Given the description of an element on the screen output the (x, y) to click on. 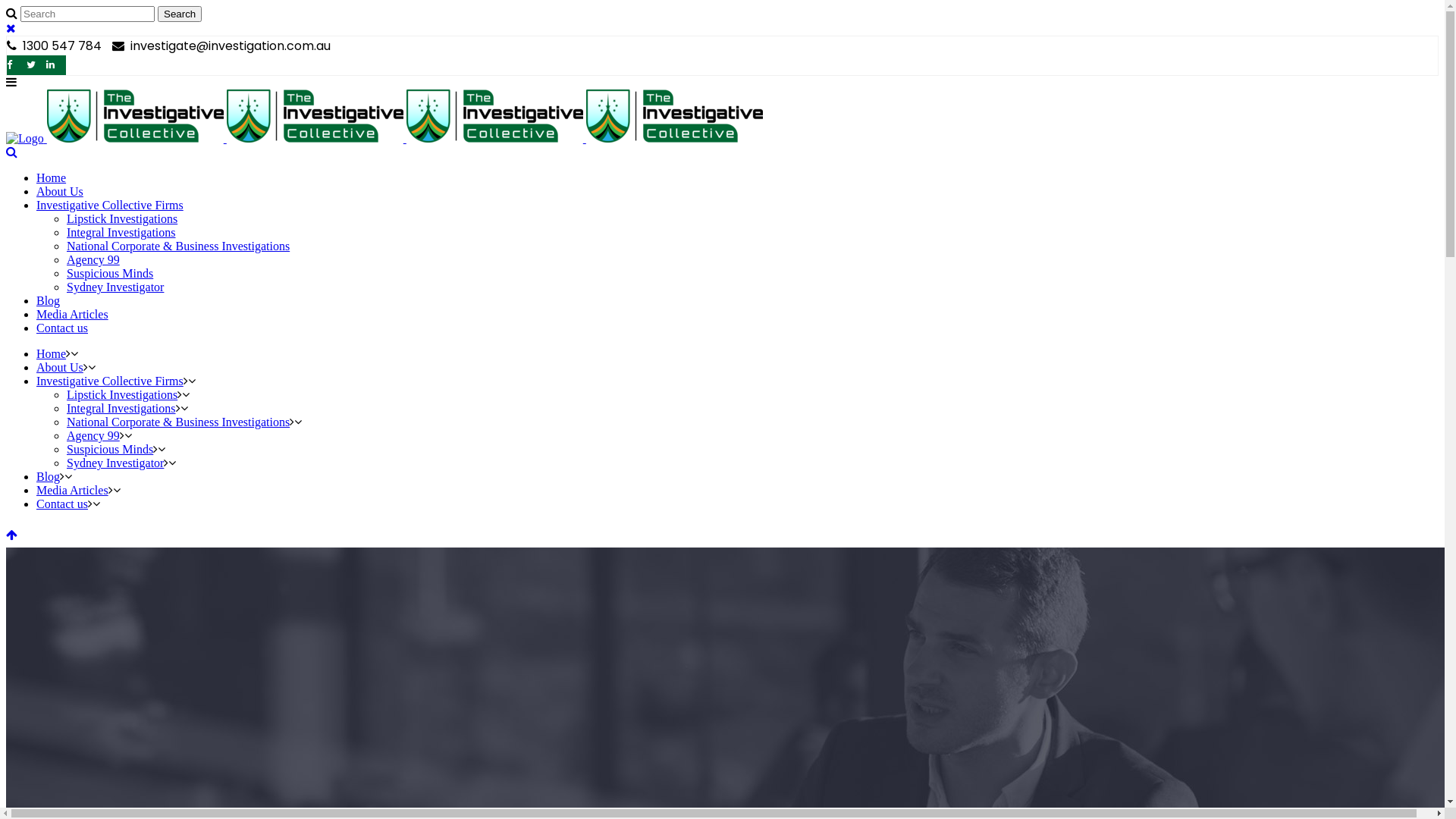
About Us Element type: text (59, 191)
Integral Investigations Element type: text (120, 407)
Home Element type: text (50, 177)
Contact us Element type: text (61, 327)
Home Element type: text (50, 353)
Search Element type: text (179, 13)
National Corporate & Business Investigations Element type: text (177, 421)
Suspicious Minds Element type: text (109, 272)
Agency 99 Element type: text (92, 435)
Integral Investigations Element type: text (120, 231)
Lipstick Investigations Element type: text (121, 218)
Media Articles Element type: text (72, 313)
Investigative Collective Firms Element type: text (109, 380)
Sydney Investigator Element type: text (114, 462)
Lipstick Investigations Element type: text (121, 394)
Investigative Collective Firms Element type: text (109, 204)
Sydney Investigator Element type: text (114, 286)
National Corporate & Business Investigations Element type: text (177, 245)
Media Articles Element type: text (72, 489)
Agency 99 Element type: text (92, 259)
Blog Element type: text (47, 476)
Contact us Element type: text (61, 503)
About Us Element type: text (59, 366)
Suspicious Minds Element type: text (109, 448)
Blog Element type: text (47, 300)
